Given the description of an element on the screen output the (x, y) to click on. 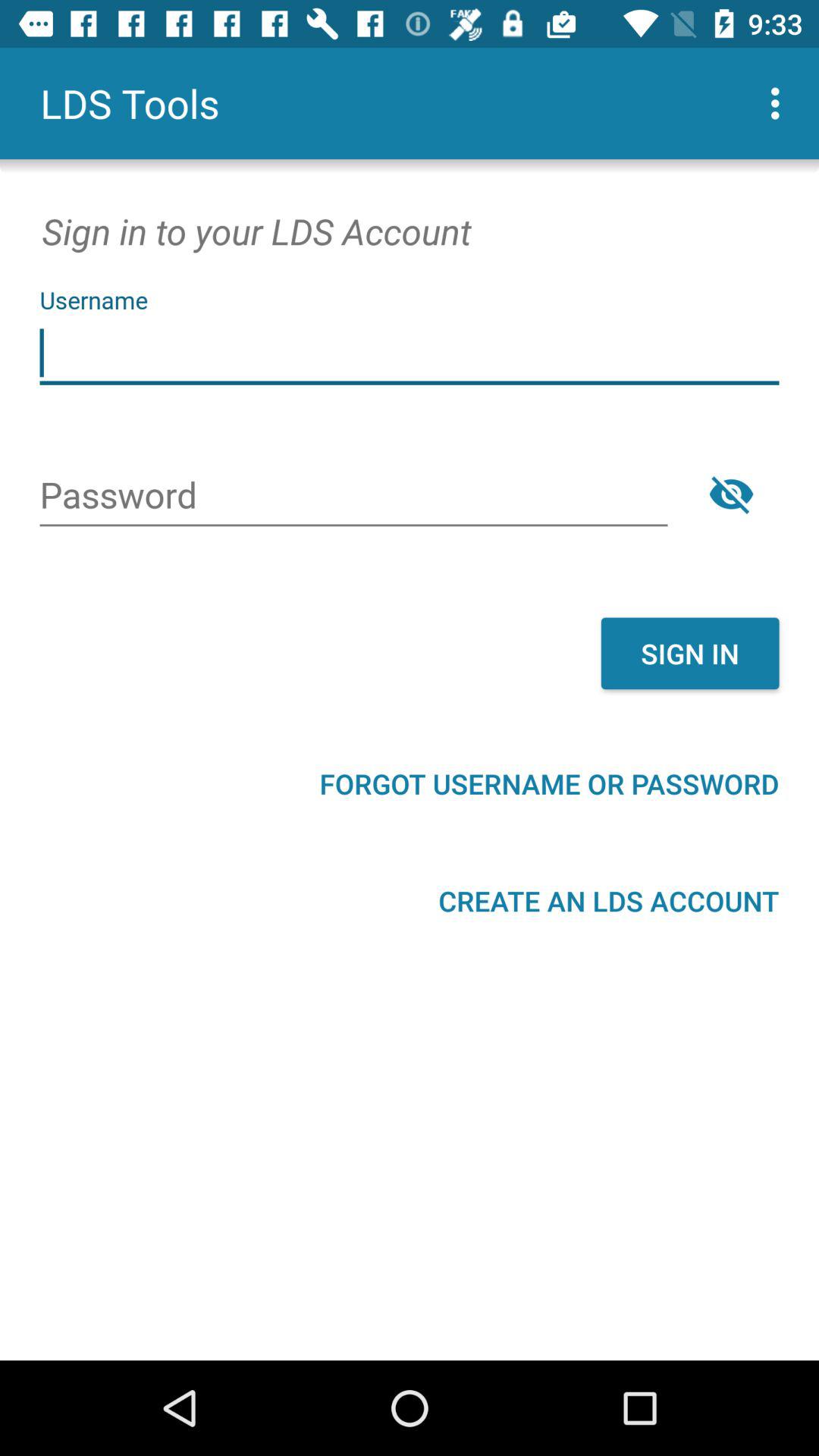
view password (731, 493)
